Given the description of an element on the screen output the (x, y) to click on. 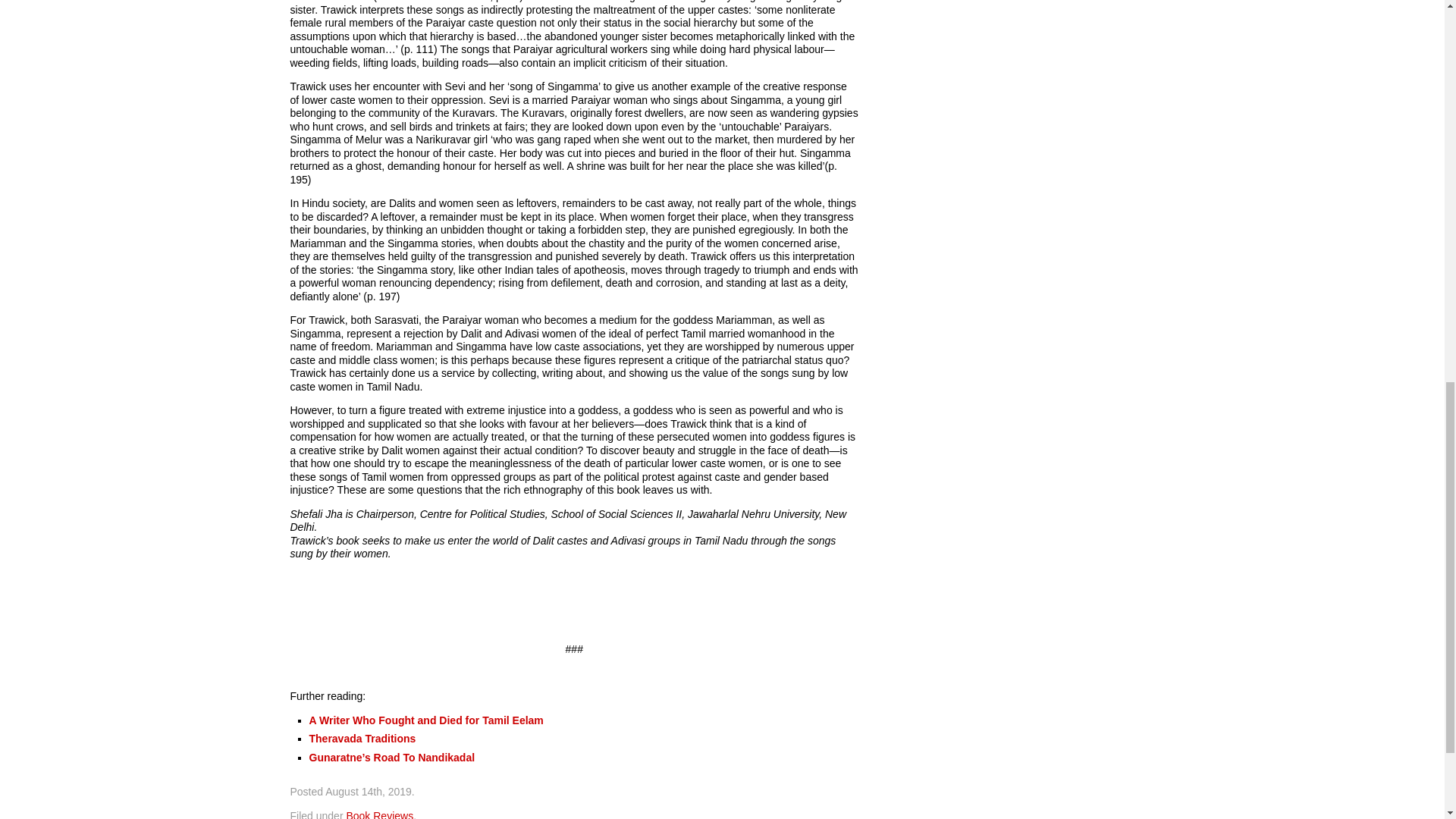
Book Reviews (379, 814)
Theravada Traditions (362, 738)
A Writer Who Fought and Died for Tamil Eelam (425, 720)
Theravada Traditions (362, 738)
A Writer Who Fought and Died for Tamil Eelam (425, 720)
